Given the description of an element on the screen output the (x, y) to click on. 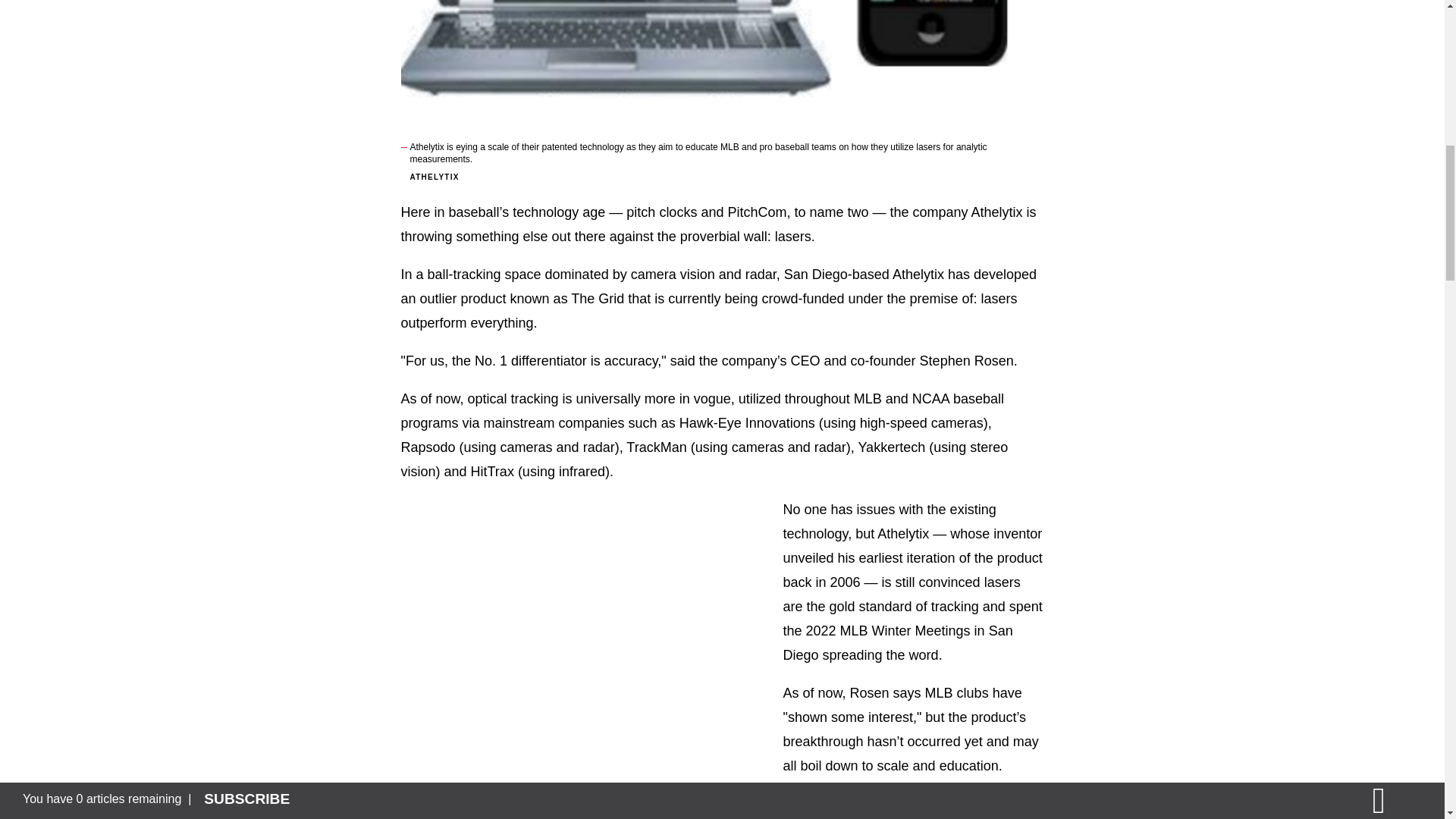
YouTube video player (561, 616)
